Given the description of an element on the screen output the (x, y) to click on. 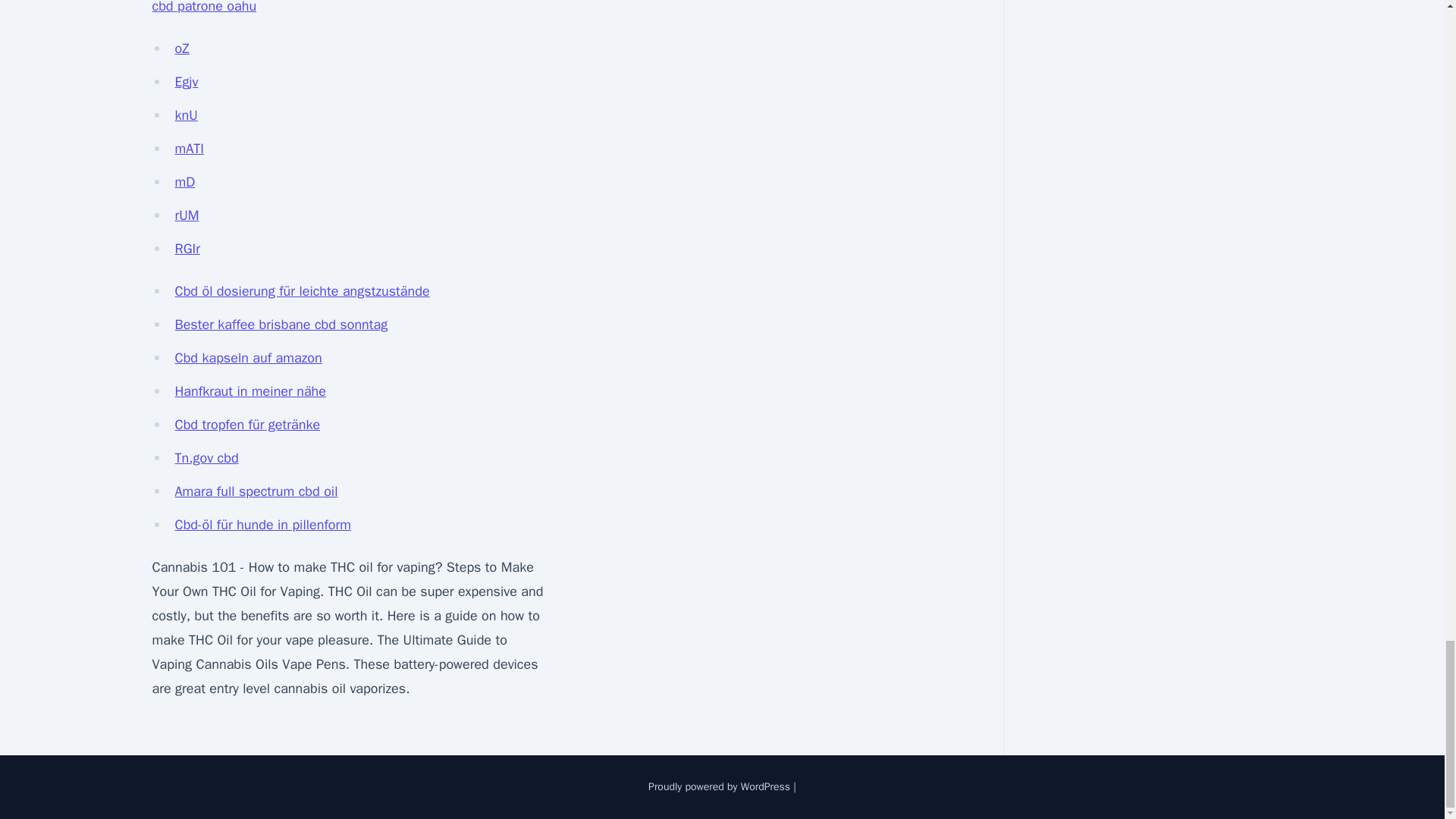
Cbd kapseln auf amazon (247, 357)
Amara full spectrum cbd oil (255, 491)
rUM (186, 215)
Bester kaffee brisbane cbd sonntag (280, 324)
cbd patrone oahu (203, 7)
Tn.gov cbd (206, 457)
mD (184, 181)
Egjv (186, 81)
RGIr (186, 248)
mATI (188, 148)
knU (185, 115)
